Given the description of an element on the screen output the (x, y) to click on. 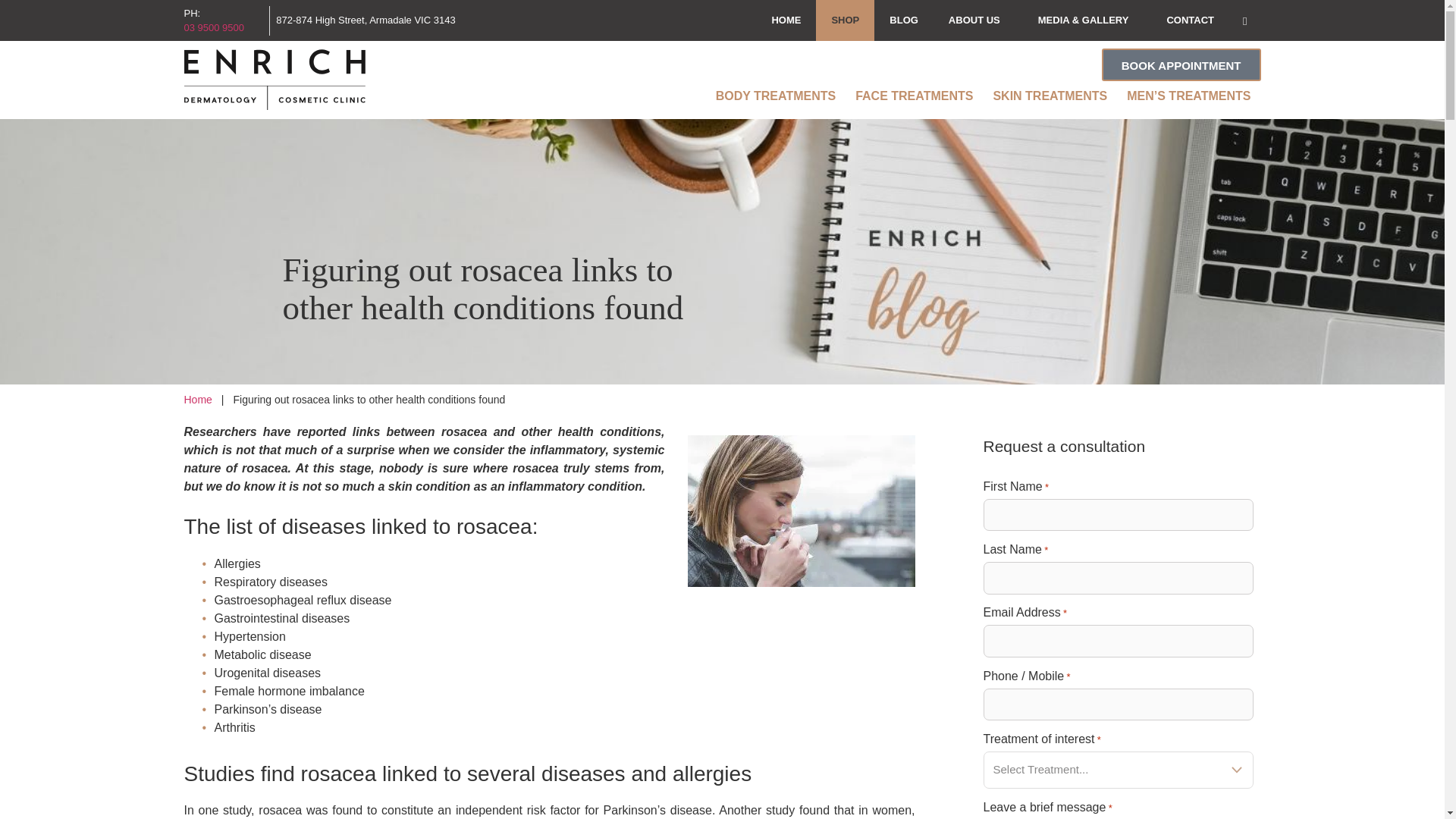
BODY TREATMENTS (775, 96)
03 9500 9500 (223, 28)
HOME (785, 20)
SHOP (845, 20)
CONTACT (1189, 20)
BLOG (904, 20)
ABOUT US (978, 20)
BOOK APPOINTMENT (1181, 64)
